Given the description of an element on the screen output the (x, y) to click on. 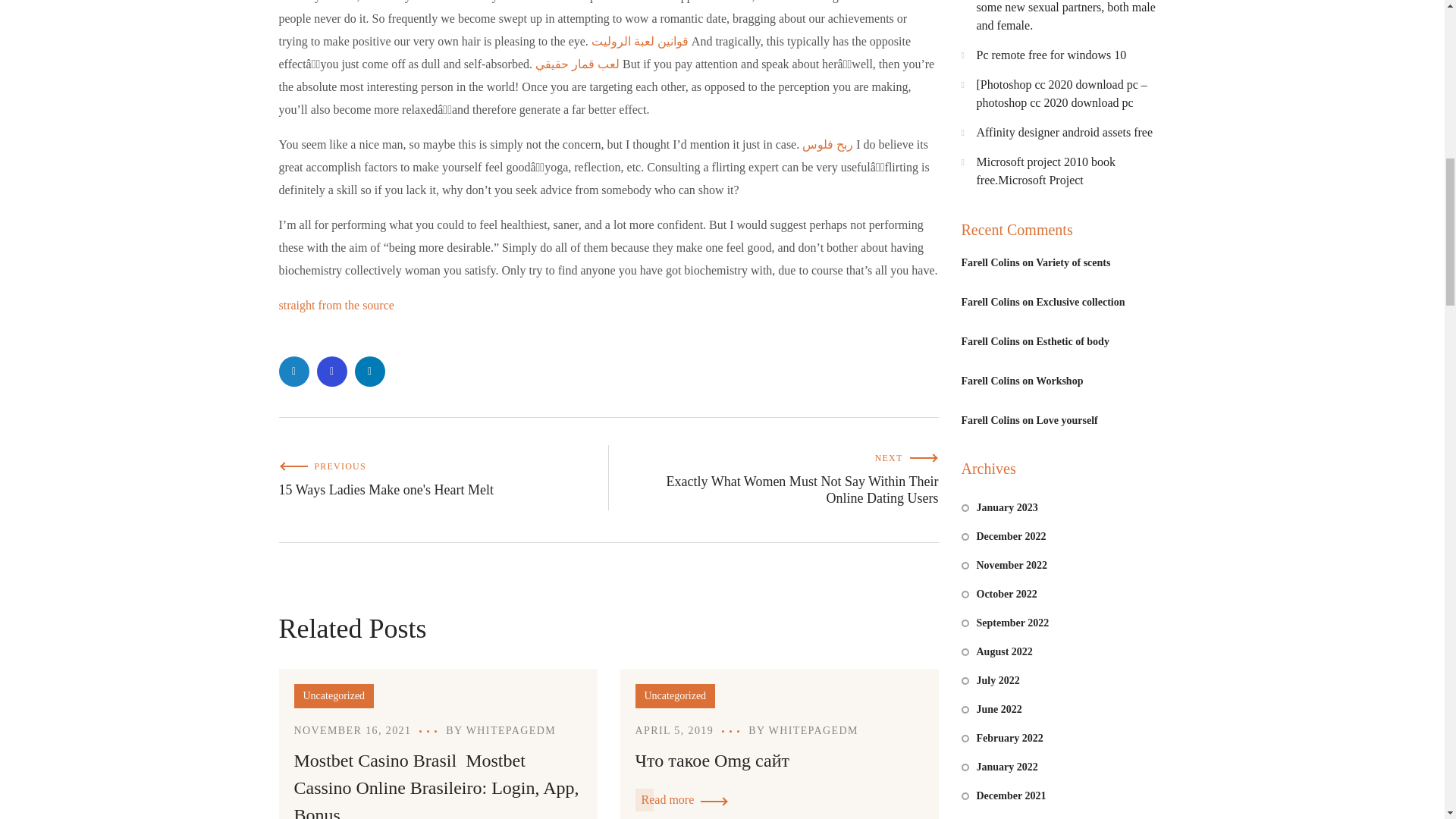
straight from the source (336, 305)
15 Ways Ladies Make one's Heart Melt (443, 477)
